Given the description of an element on the screen output the (x, y) to click on. 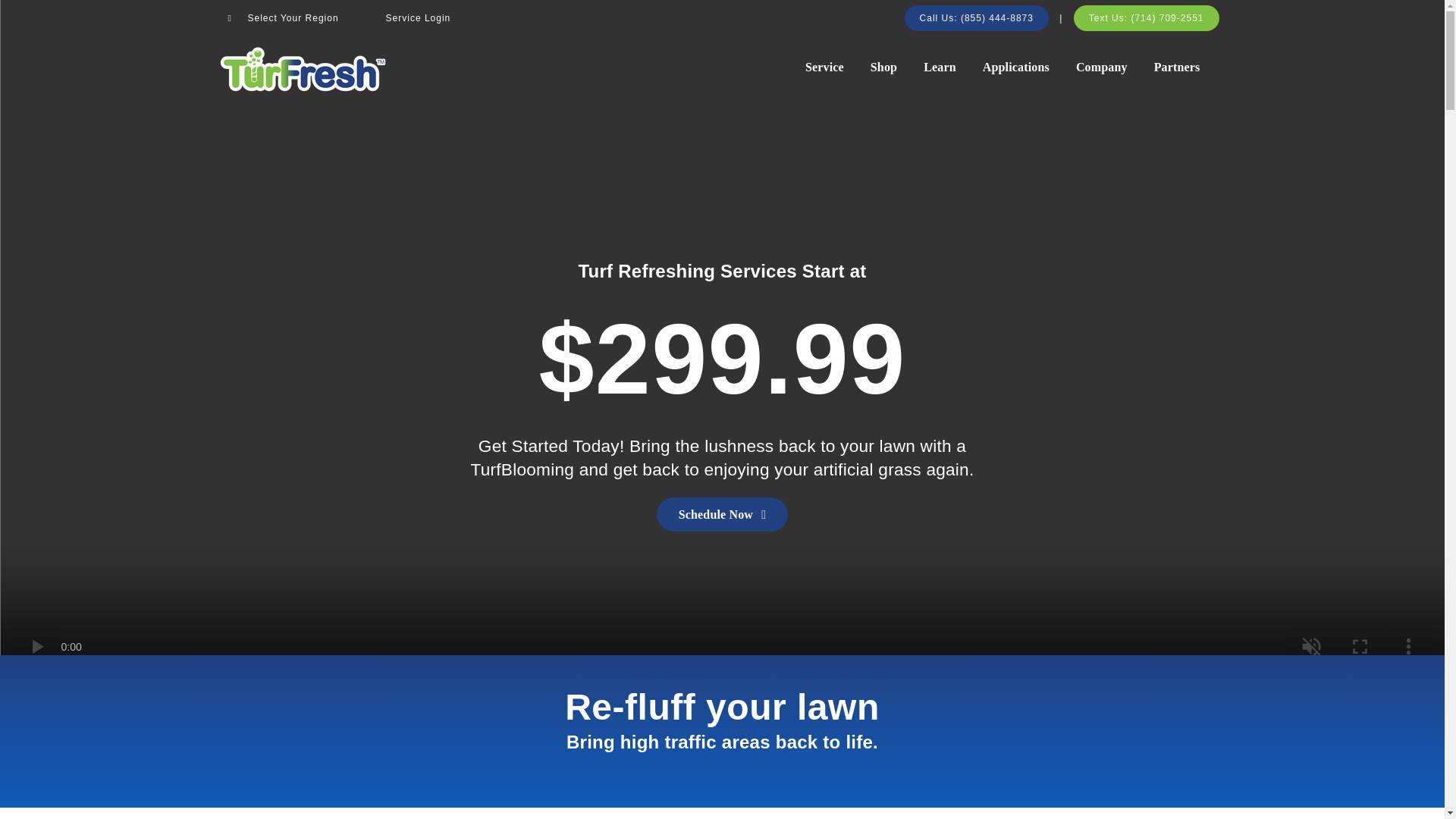
Company (1100, 67)
Select Your Region (283, 18)
Service Login (418, 18)
TurfBloom white outline (721, 227)
Applications (1015, 67)
